Given the description of an element on the screen output the (x, y) to click on. 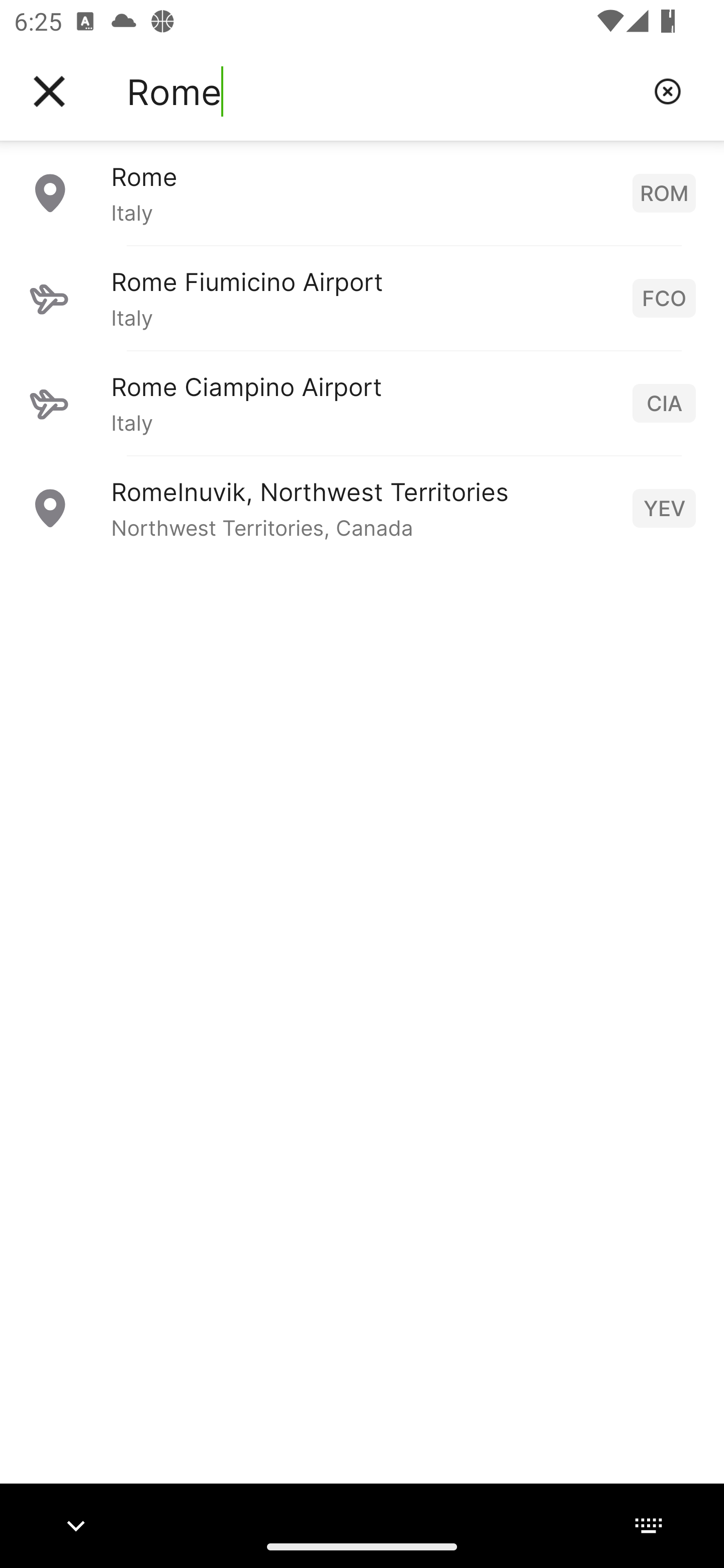
Rome (382, 91)
Rome Italy ROM (362, 192)
Rome Fiumicino Airport Italy FCO (362, 297)
Rome Ciampino Airport Italy CIA (362, 402)
